Given the description of an element on the screen output the (x, y) to click on. 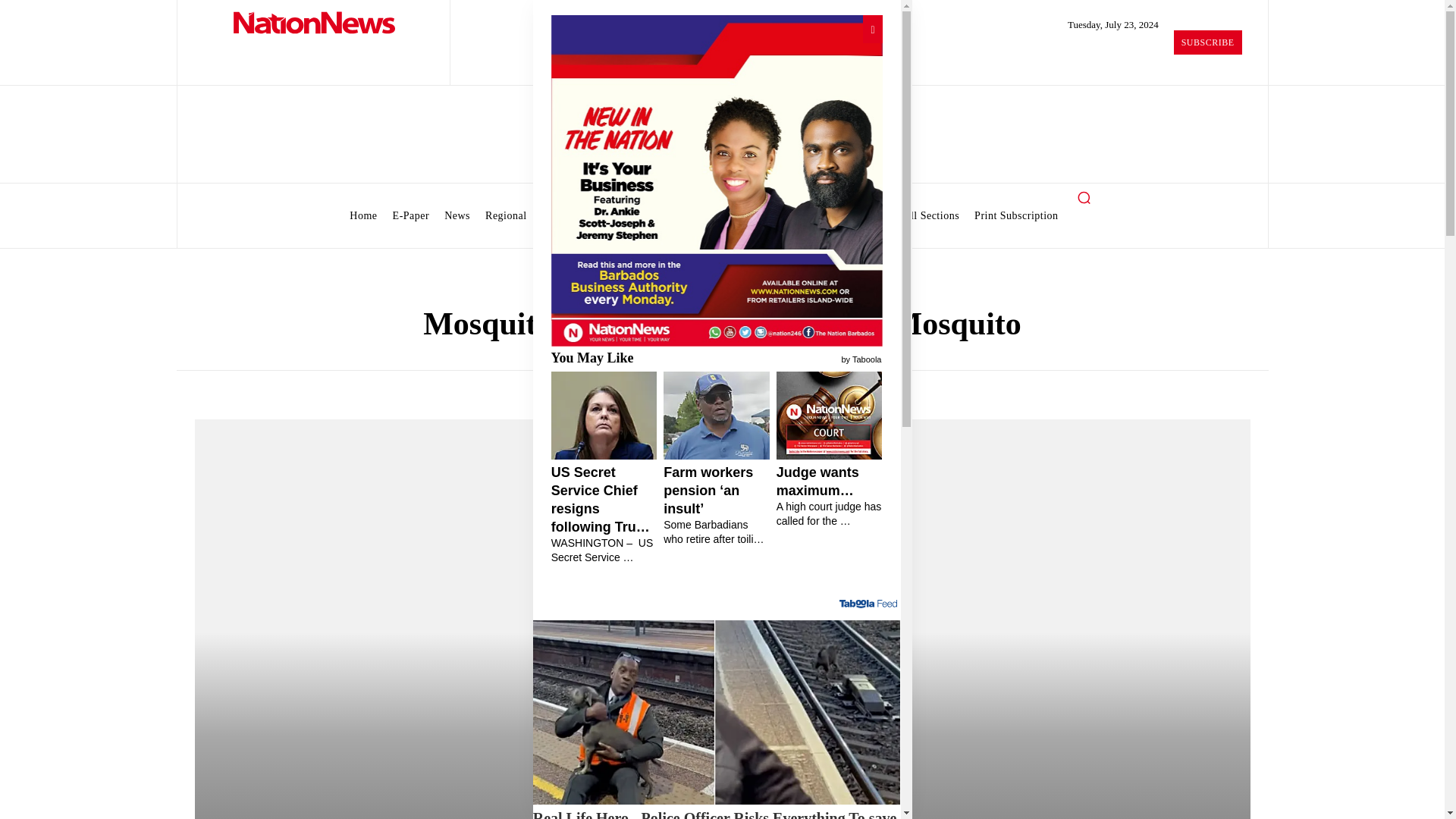
Judge wants maximum raised (829, 495)
by Taboola (860, 357)
